Given the description of an element on the screen output the (x, y) to click on. 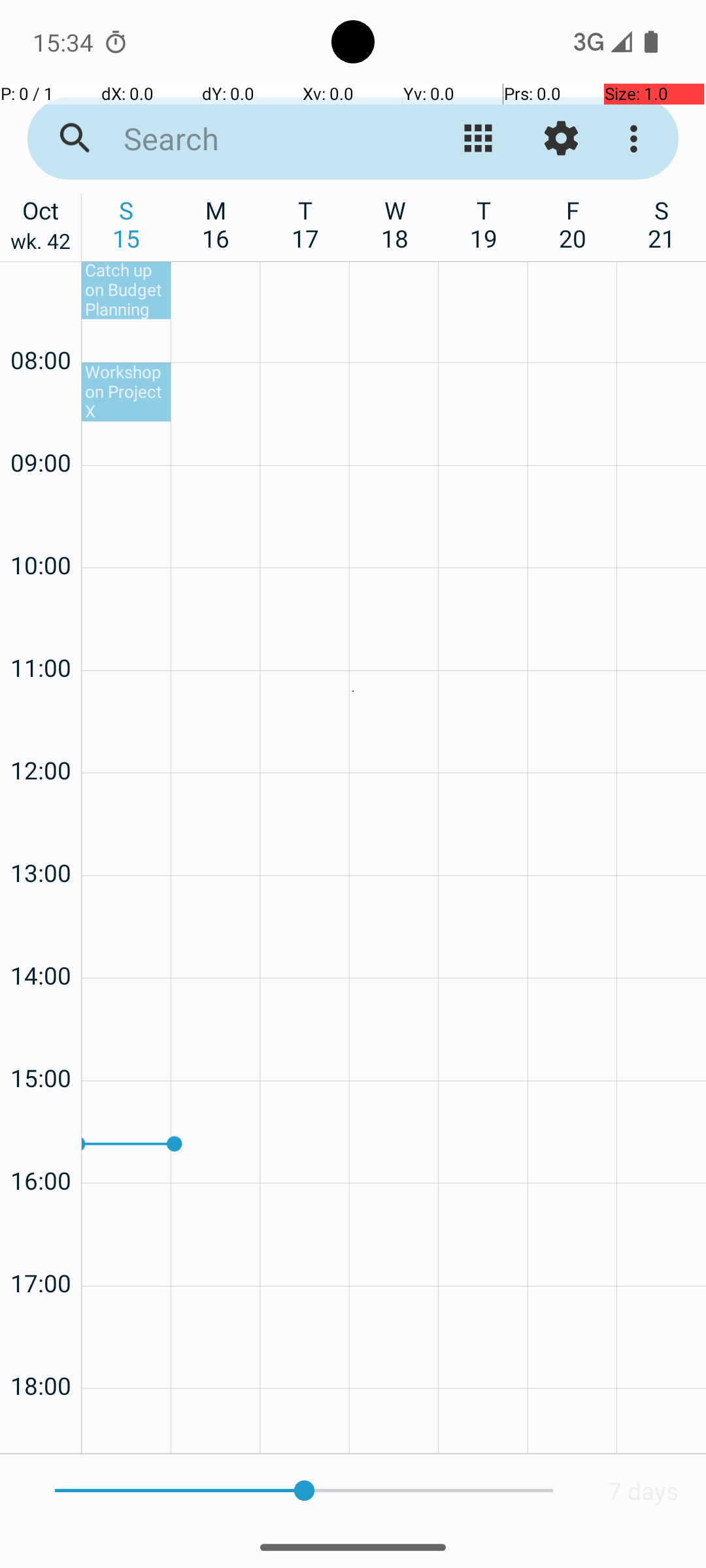
wk. 42 Element type: android.widget.TextView (40, 243)
M
16 Element type: android.widget.TextView (215, 223)
T
17 Element type: android.widget.TextView (305, 223)
W
18 Element type: android.widget.TextView (394, 223)
T
19 Element type: android.widget.TextView (483, 223)
F
20 Element type: android.widget.TextView (572, 223)
S
21 Element type: android.widget.TextView (661, 223)
